Given the description of an element on the screen output the (x, y) to click on. 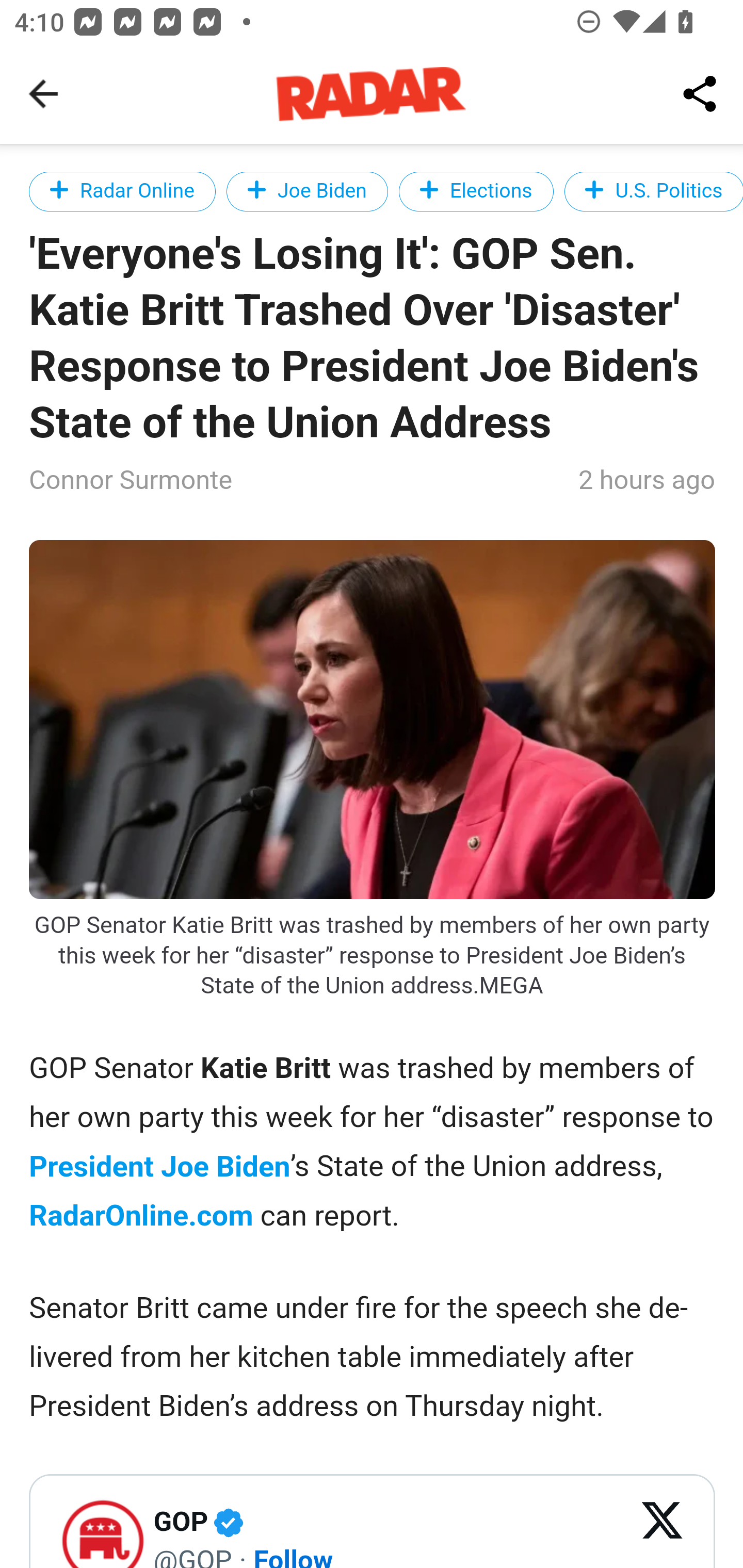
Radar Online (122, 191)
Joe Biden (306, 191)
Elections (475, 191)
U.S. Politics (653, 191)
President Joe Biden (159, 1166)
RadarOnline.com (141, 1214)
View on X (662, 1531)
GOP Verified account GOP Verified account (242, 1522)
@GOP (191, 1554)
Follow (292, 1554)
